Given the description of an element on the screen output the (x, y) to click on. 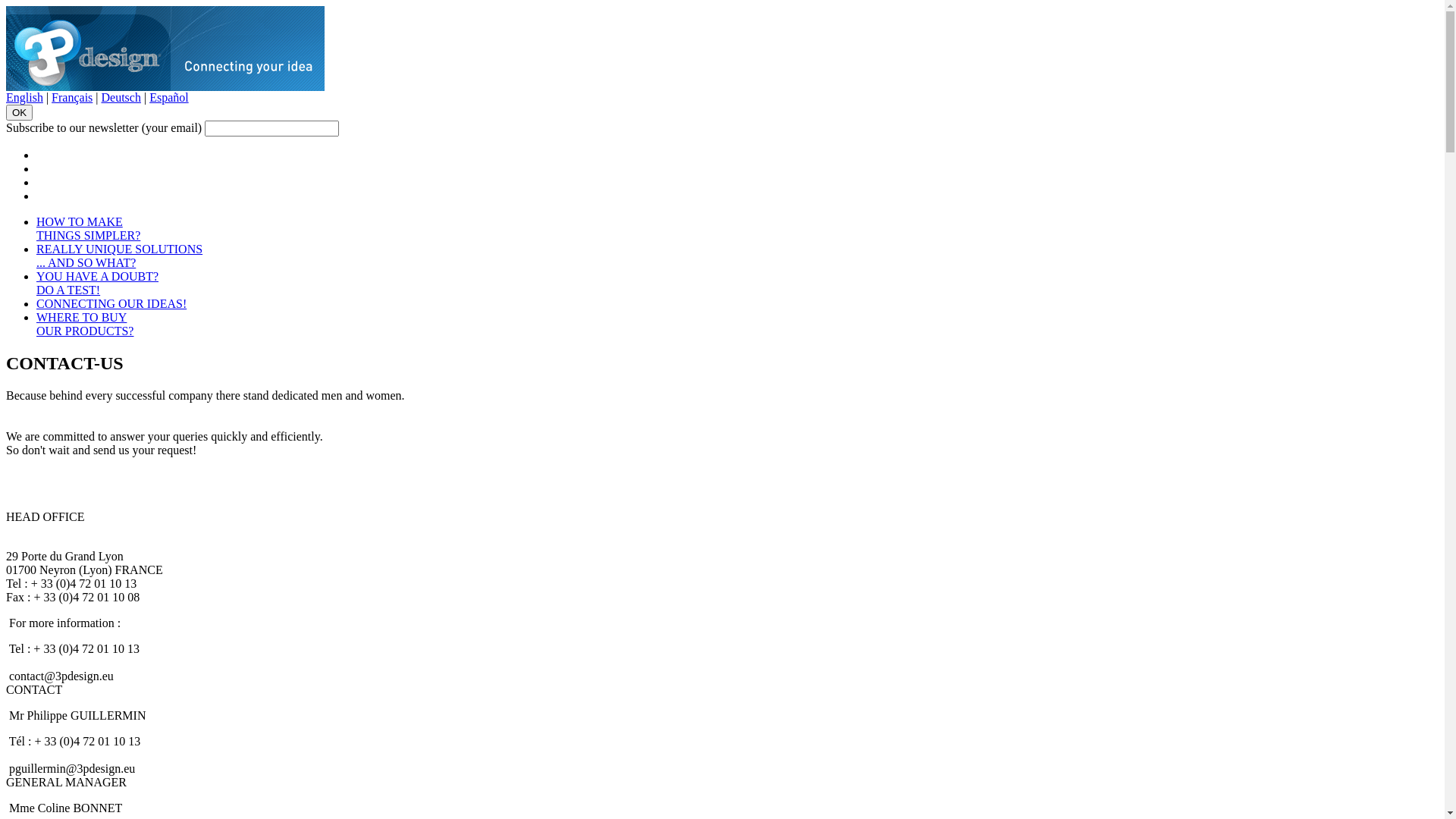
REALLY UNIQUE SOLUTIONS
... AND SO WHAT? Element type: text (119, 255)
YOU HAVE A DOUBT?
DO A TEST! Element type: text (97, 282)
OK Element type: text (19, 112)
English Element type: text (24, 97)
WHERE TO BUY
OUR PRODUCTS? Element type: text (84, 323)
HOW TO MAKE
THINGS SIMPLER? Element type: text (88, 228)
Deutsch Element type: text (121, 97)
cablage informatique Element type: hover (165, 86)
CONNECTING OUR IDEAS! Element type: text (111, 303)
Subscribe to our newsletter (your email) Element type: hover (271, 128)
